Given the description of an element on the screen output the (x, y) to click on. 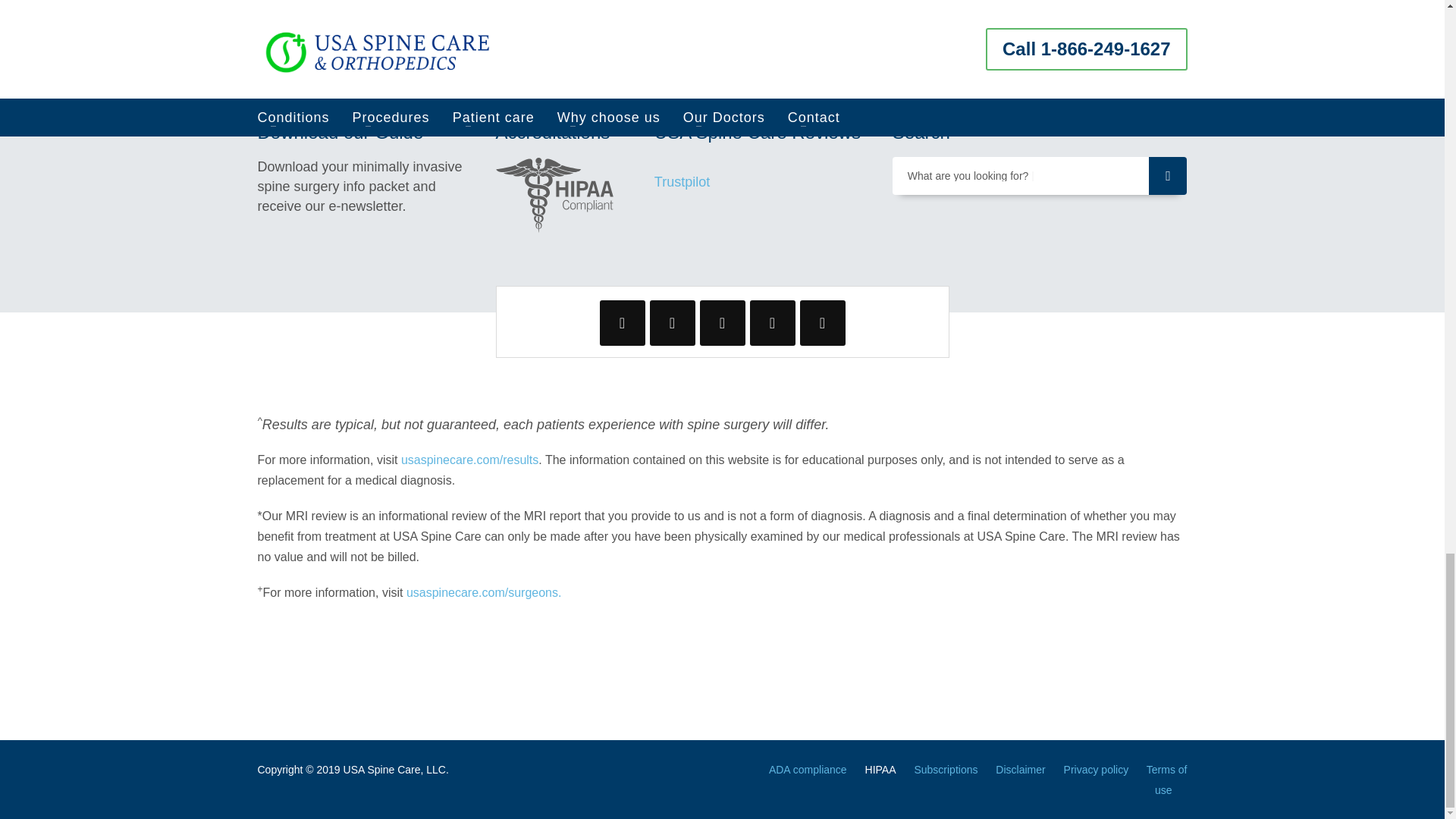
HIPAA Compliant (555, 194)
